Given the description of an element on the screen output the (x, y) to click on. 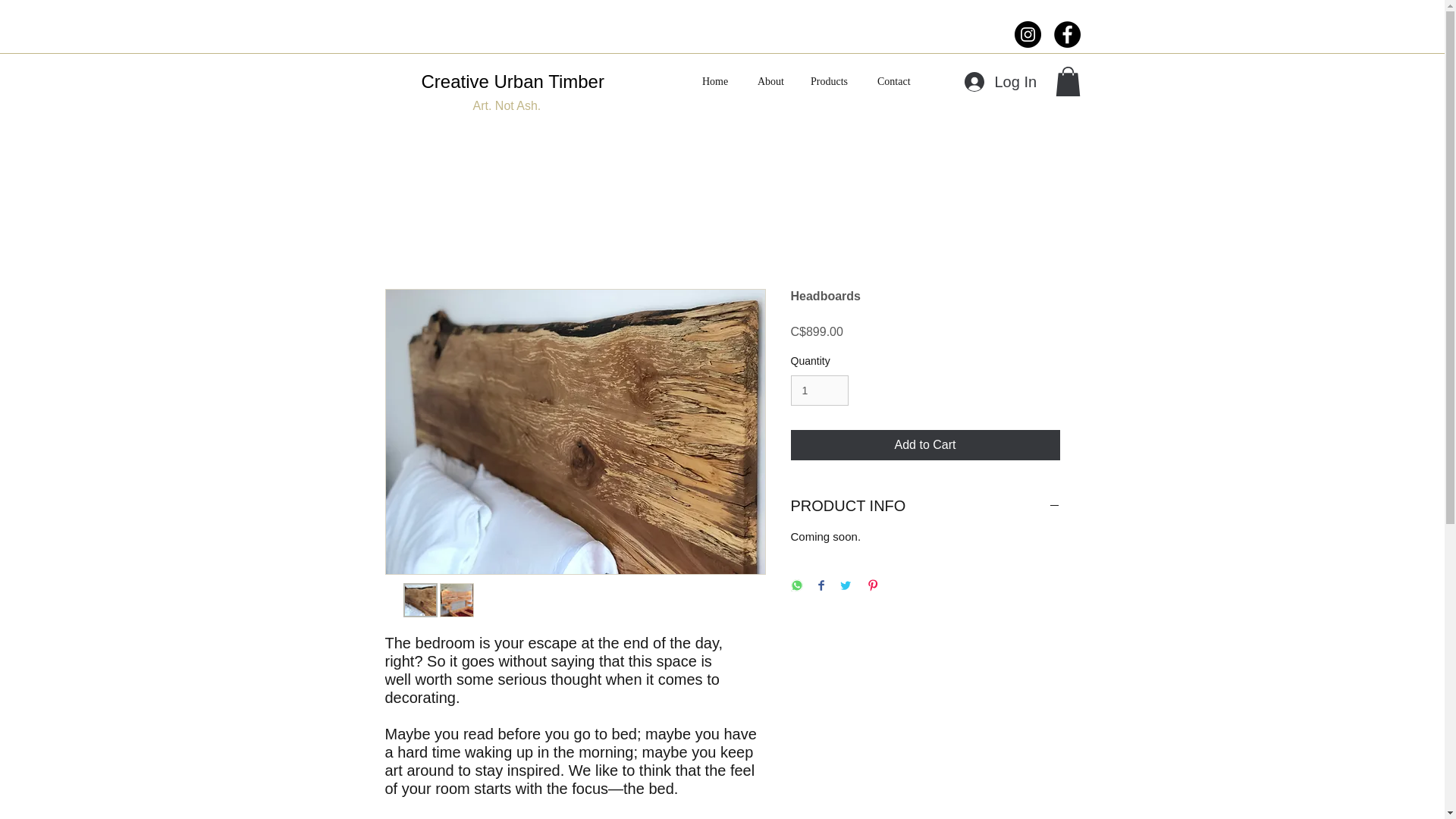
Creative Urban Timber (513, 81)
Products (832, 81)
PRODUCT INFO (924, 505)
1 (818, 390)
Log In (999, 81)
Add to Cart (924, 444)
Contact (896, 81)
Home (717, 81)
About (772, 81)
